Given the description of an element on the screen output the (x, y) to click on. 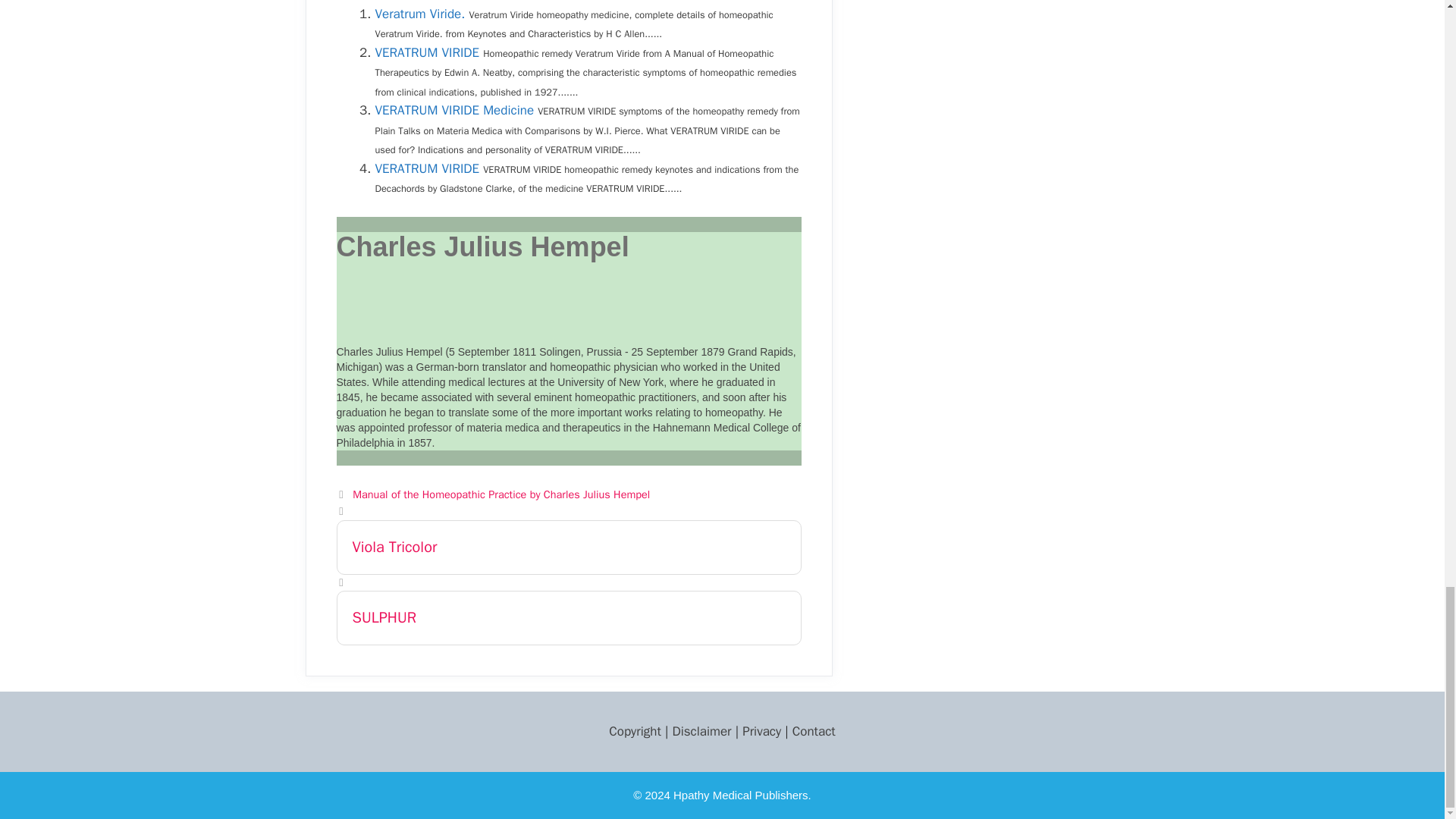
Veratrum Viride. (419, 13)
Manual of the Homeopathic Practice by Charles Julius Hempel (500, 494)
SULPHUR (569, 617)
Veratrum Viride. (419, 13)
Disclaimer (700, 731)
VERATRUM VIRIDE (426, 168)
Charles Julius Hempel (482, 246)
Charles Julius Hempel (482, 246)
Viola Tricolor (569, 547)
Privacy (761, 731)
